Given the description of an element on the screen output the (x, y) to click on. 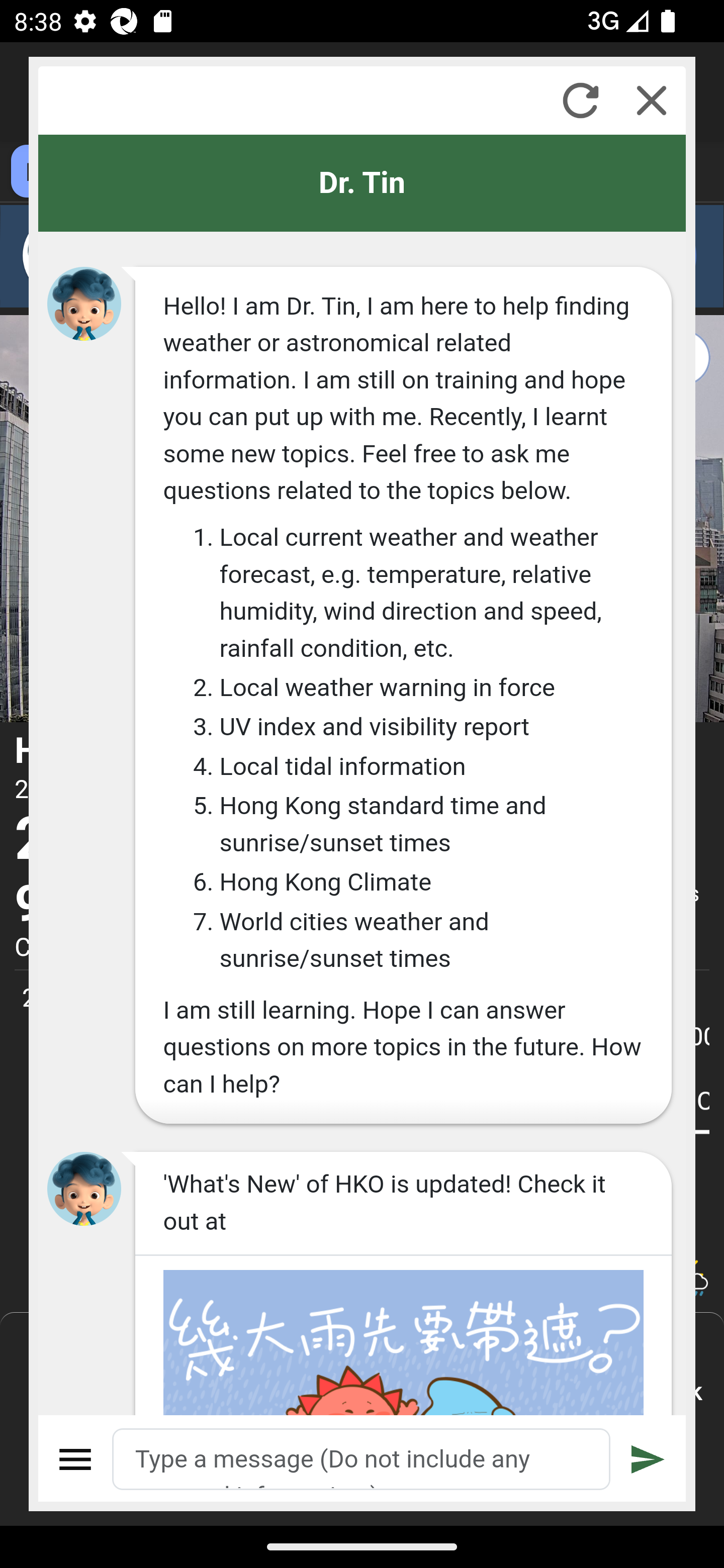
Refresh (580, 100)
Close (651, 100)
Menu (75, 1458)
Submit (648, 1458)
